Given the description of an element on the screen output the (x, y) to click on. 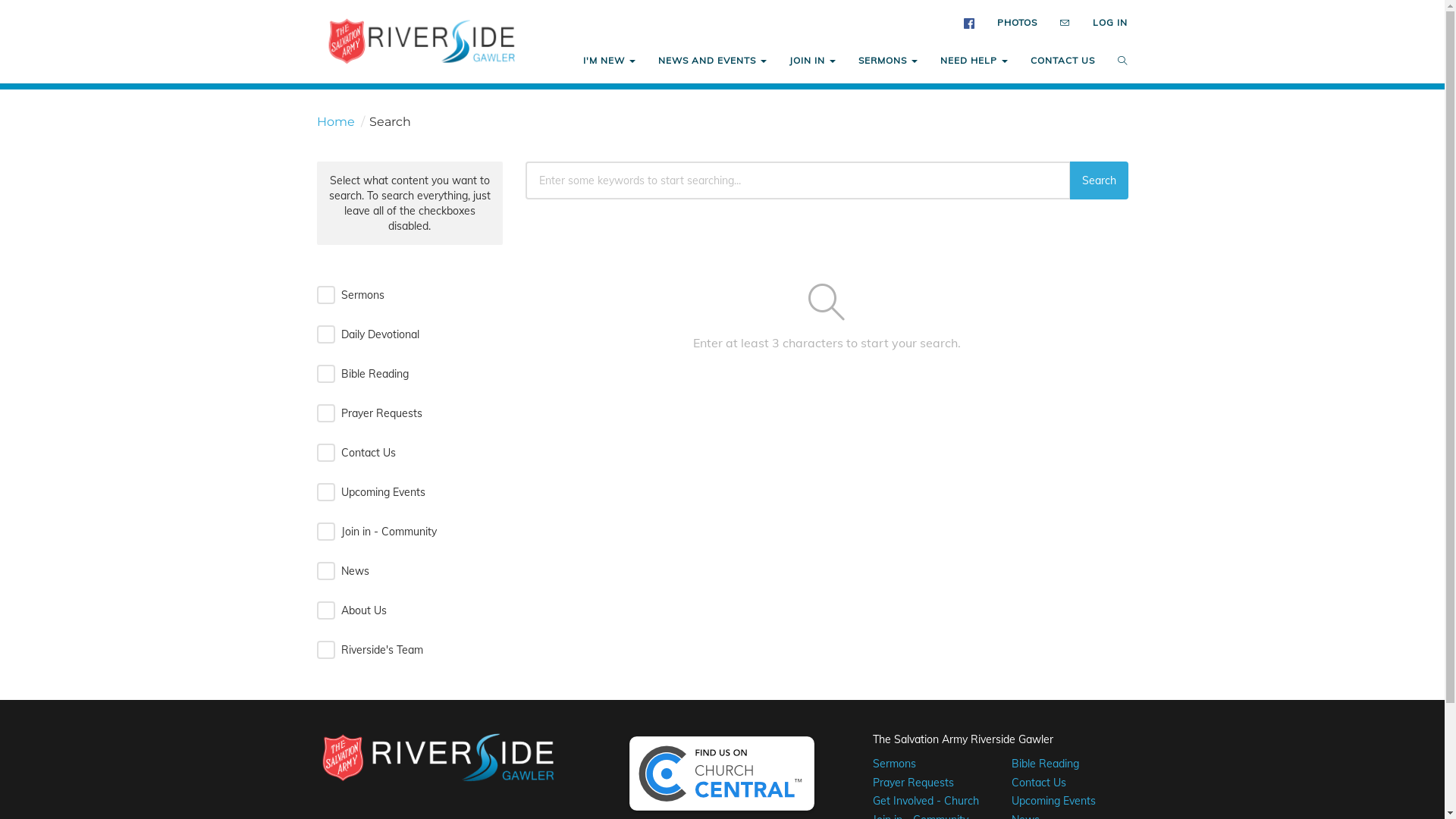
CONTACT US Element type: text (1062, 60)
JOIN IN Element type: text (812, 60)
Sermons Element type: text (894, 763)
LOG IN Element type: text (1110, 22)
PHOTOS Element type: text (1016, 22)
I'M NEW Element type: text (608, 60)
Contact Us Element type: text (1038, 782)
SERMONS Element type: text (887, 60)
Get Involved - Church Element type: text (925, 800)
Bible Reading Element type: text (1045, 763)
Search Element type: text (1098, 180)
Prayer Requests Element type: text (912, 782)
NEWS AND EVENTS Element type: text (712, 60)
Home Element type: text (335, 121)
NEED HELP Element type: text (973, 60)
Upcoming Events Element type: text (1053, 800)
